Given the description of an element on the screen output the (x, y) to click on. 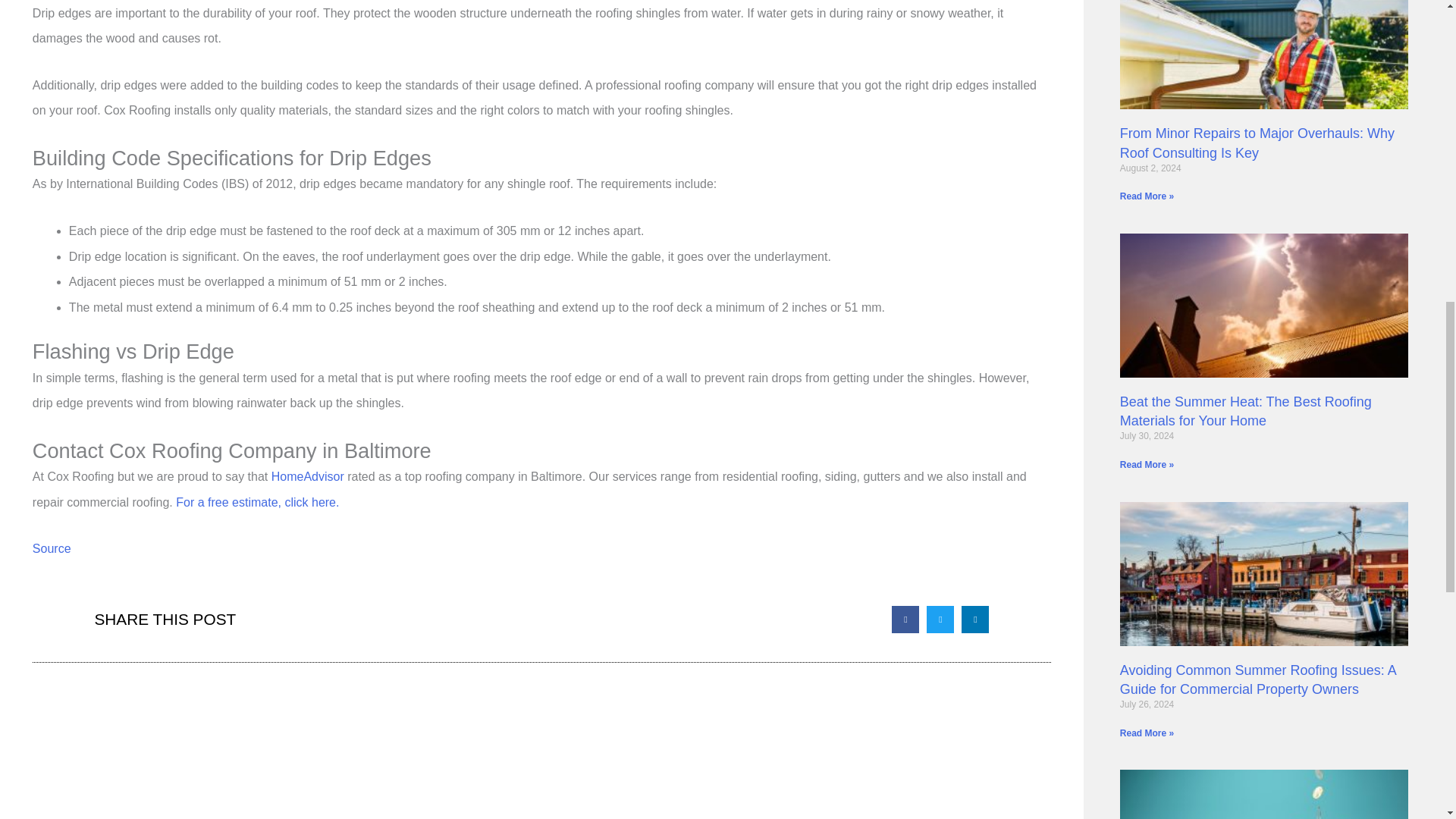
HomeAdvisor (306, 476)
For a free estimate, click here. (257, 502)
Source (51, 548)
